Given the description of an element on the screen output the (x, y) to click on. 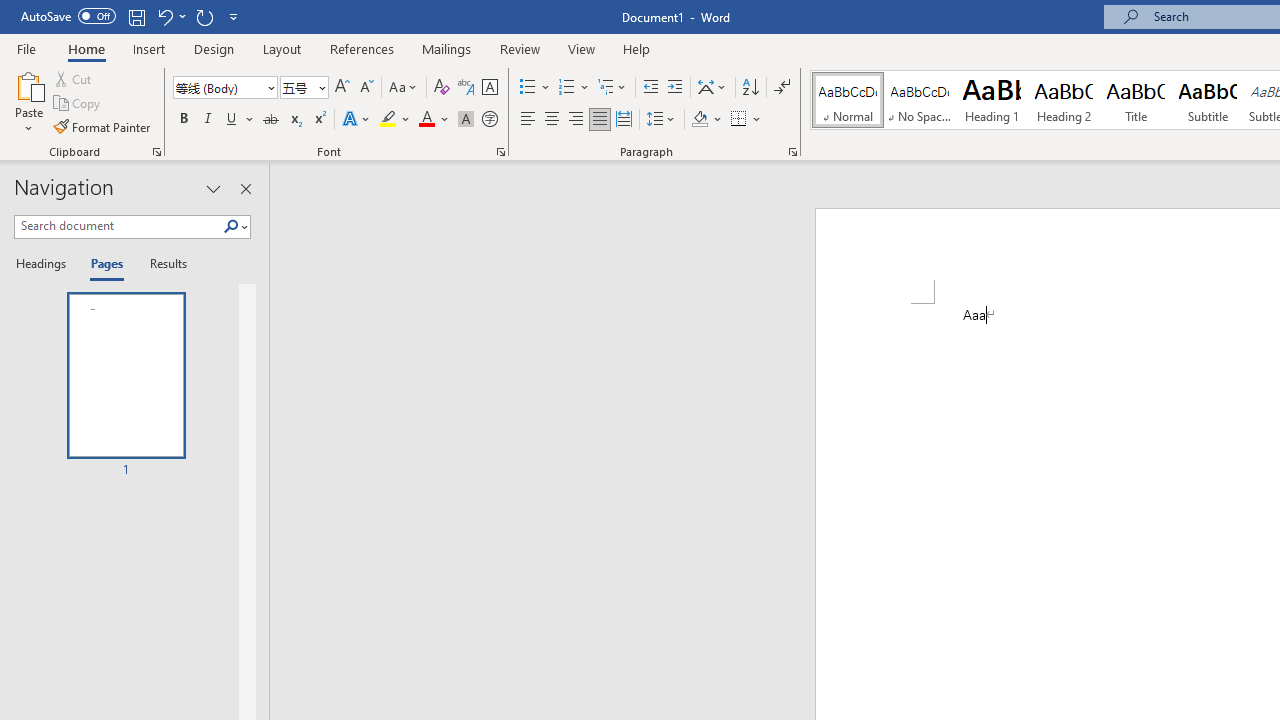
Mailings (447, 48)
Asian Layout (712, 87)
Line and Paragraph Spacing (661, 119)
Search (231, 227)
Sort... (750, 87)
Shading RGB(0, 0, 0) (699, 119)
Italic (207, 119)
Copy (78, 103)
References (362, 48)
Format Painter (103, 126)
Borders (739, 119)
Heading 2 (1063, 100)
View (582, 48)
Font (218, 87)
Paste (28, 102)
